Given the description of an element on the screen output the (x, y) to click on. 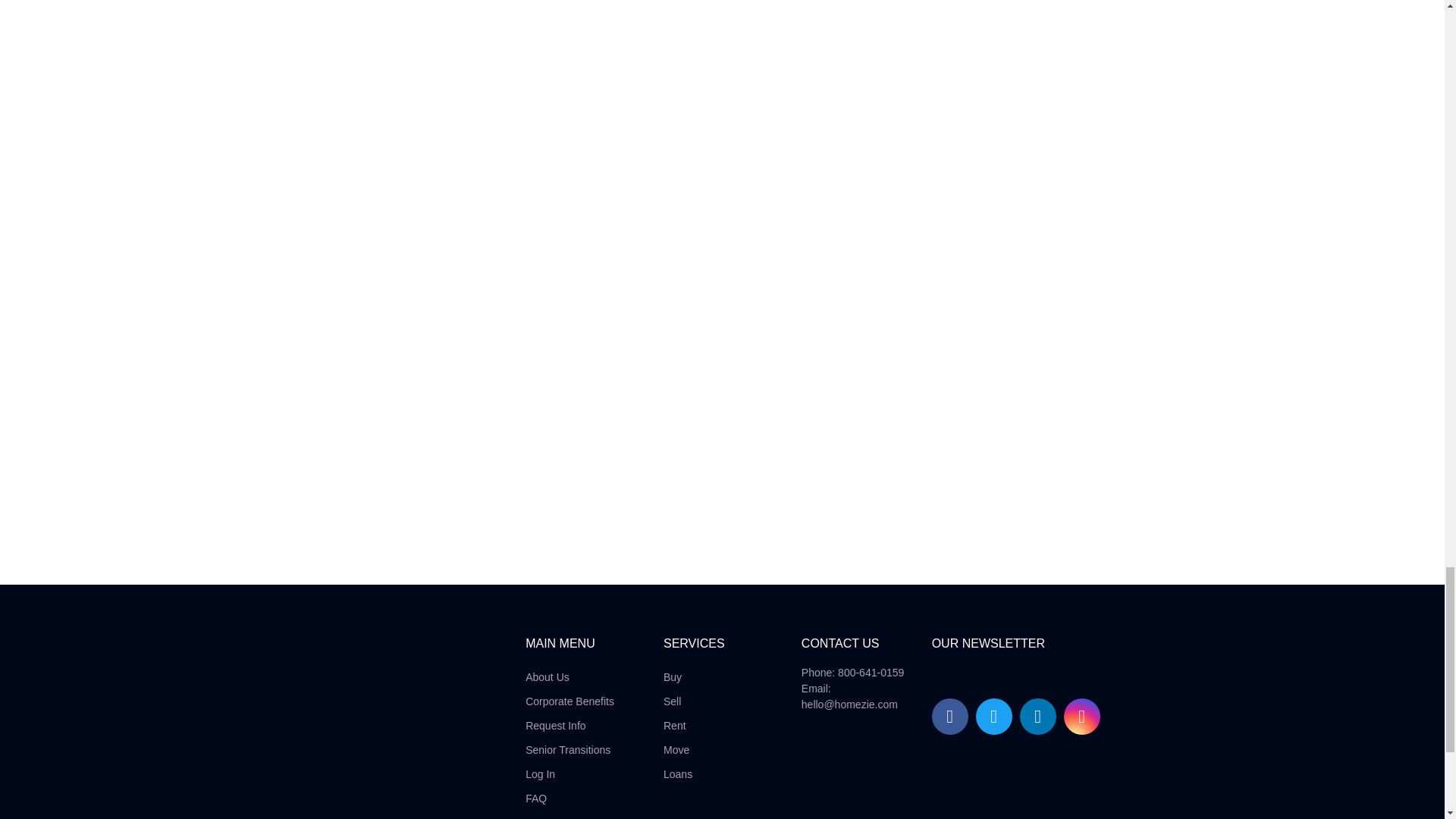
Log In (569, 774)
Senior Transitions (569, 749)
Buy (678, 676)
Sell (678, 701)
Contact Us (569, 816)
About Us (569, 676)
Request Info (569, 725)
FAQ (569, 798)
Corporate Benefits (569, 701)
